Given the description of an element on the screen output the (x, y) to click on. 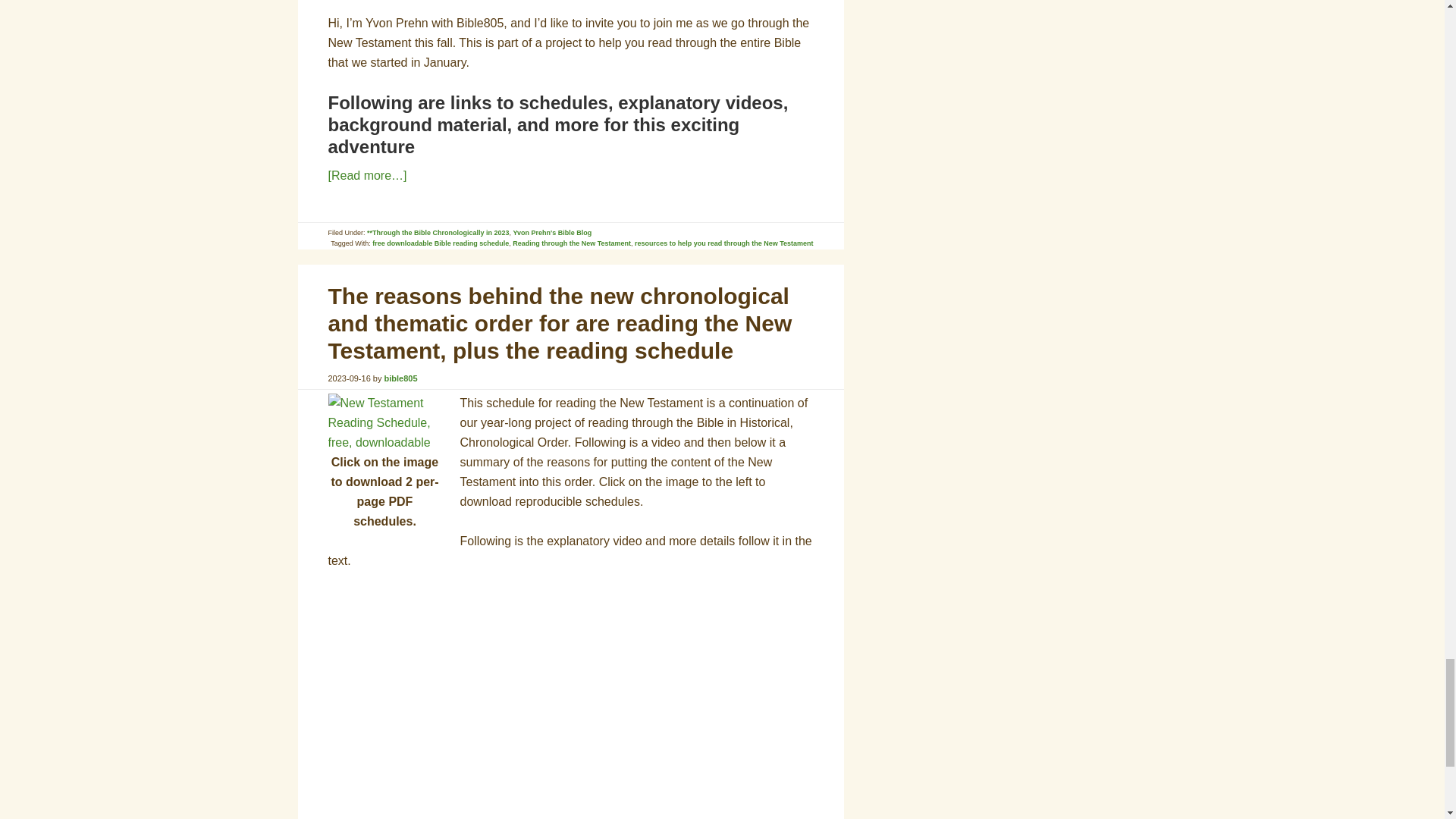
YouTube video player (539, 704)
